Given the description of an element on the screen output the (x, y) to click on. 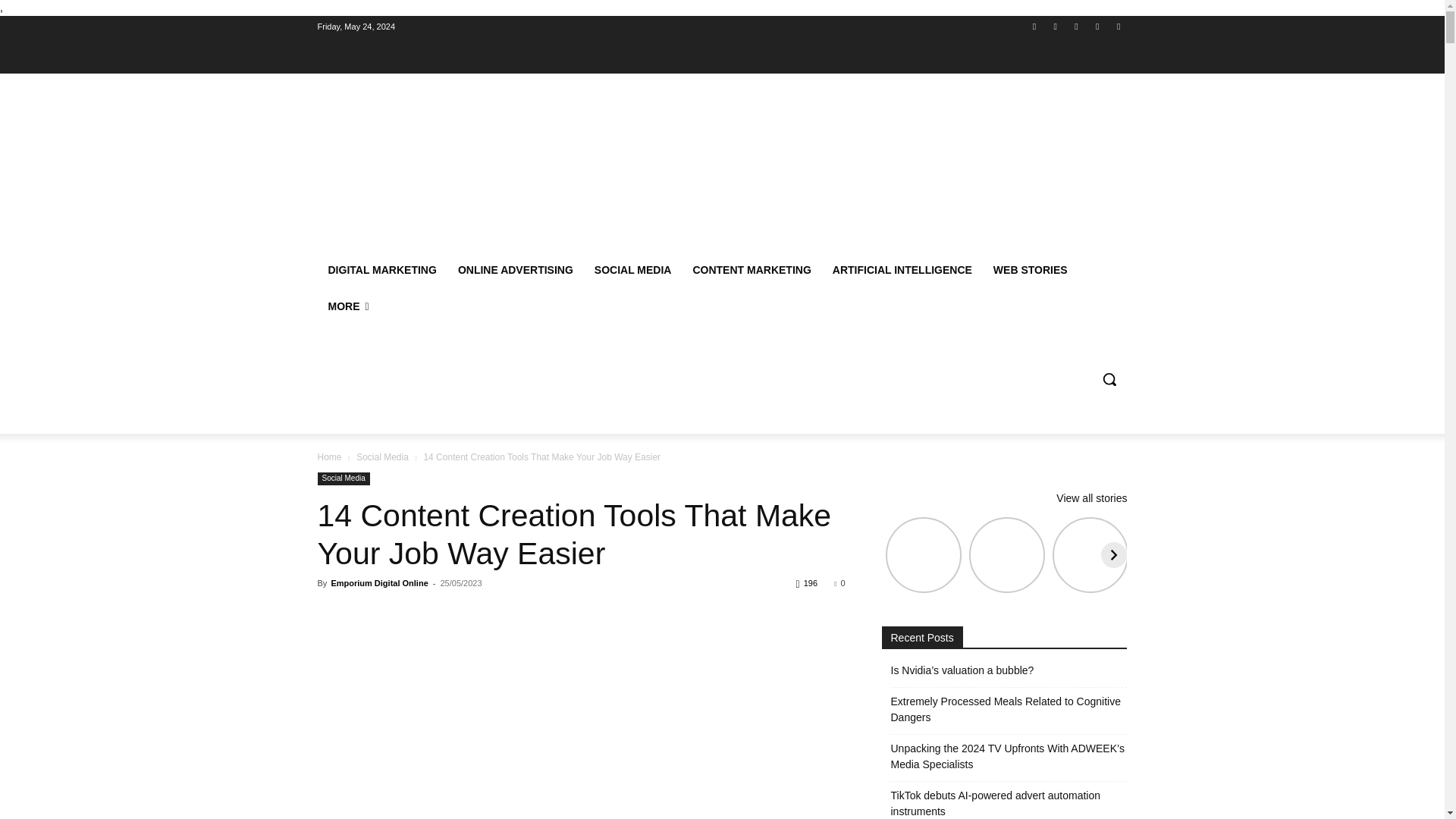
MORE (347, 306)
Youtube (1117, 27)
ARTIFICIAL INTELLIGENCE (902, 269)
DIGITAL MARKETING (381, 269)
Facebook (1034, 27)
WEB STORIES (1030, 269)
TikTok (1075, 27)
Twitter (1097, 27)
Instagram (1055, 27)
CONTENT MARKETING (751, 269)
SOCIAL MEDIA (632, 269)
ONLINE ADVERTISING (514, 269)
